Given the description of an element on the screen output the (x, y) to click on. 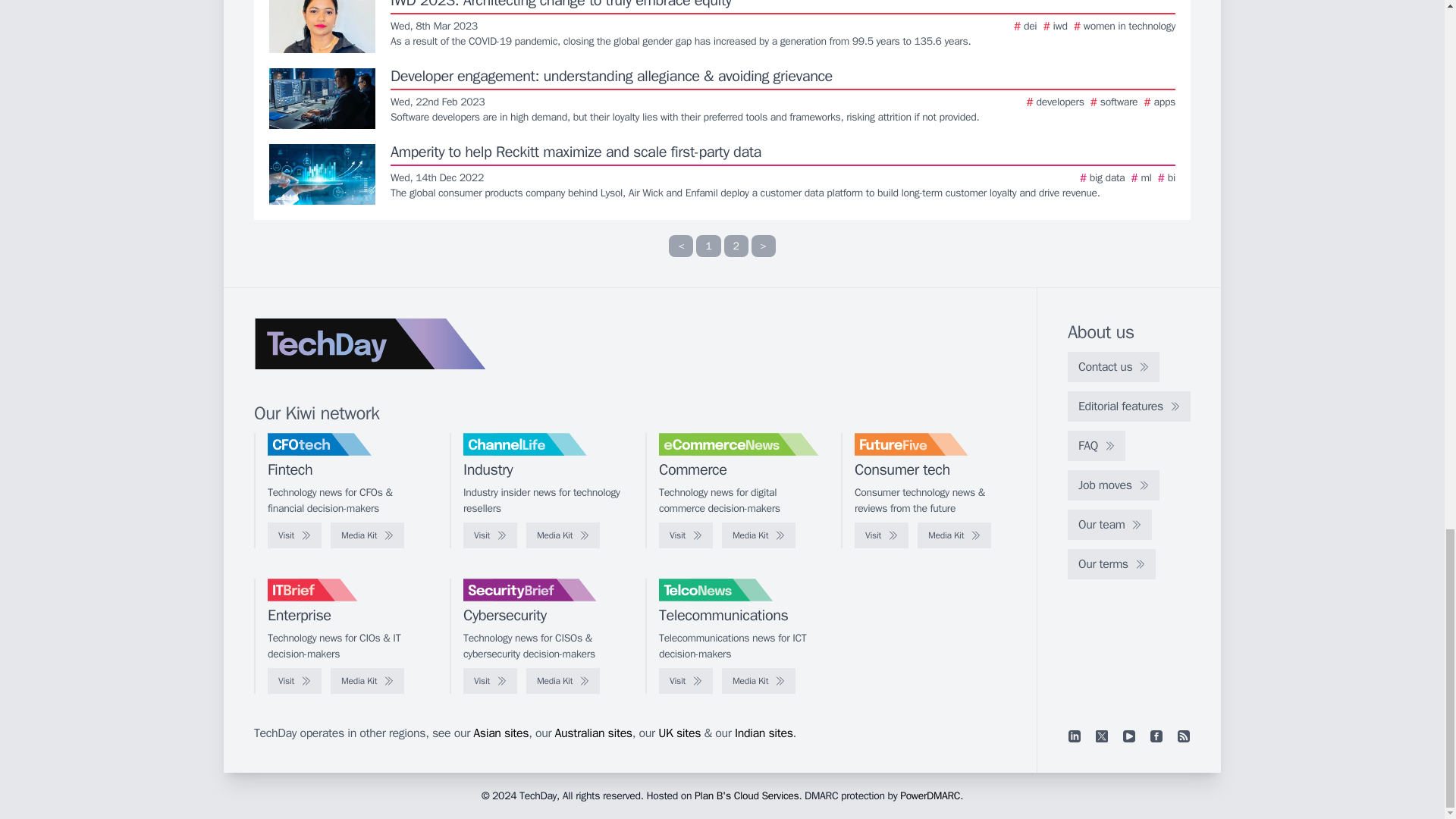
Visit (881, 534)
Media Kit (367, 534)
Media Kit (562, 534)
Visit (489, 534)
Media Kit (954, 534)
1 (707, 246)
Visit (294, 534)
Media Kit (758, 534)
Visit (686, 534)
2 (735, 246)
